Given the description of an element on the screen output the (x, y) to click on. 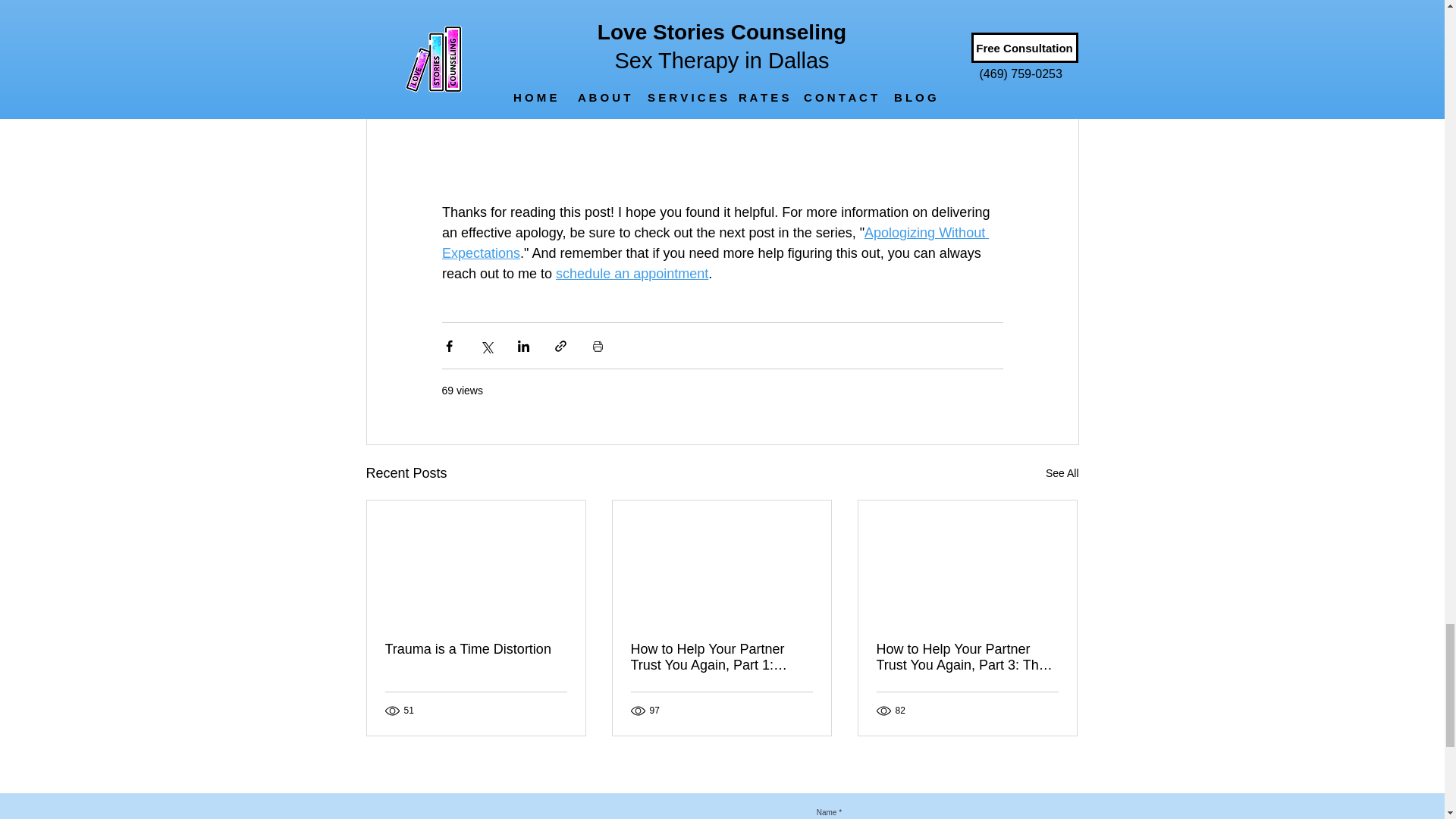
See All (1061, 473)
schedule an appointment (631, 273)
Apologizing Without Expectations (714, 243)
Trauma is a Time Distortion (476, 649)
